Given the description of an element on the screen output the (x, y) to click on. 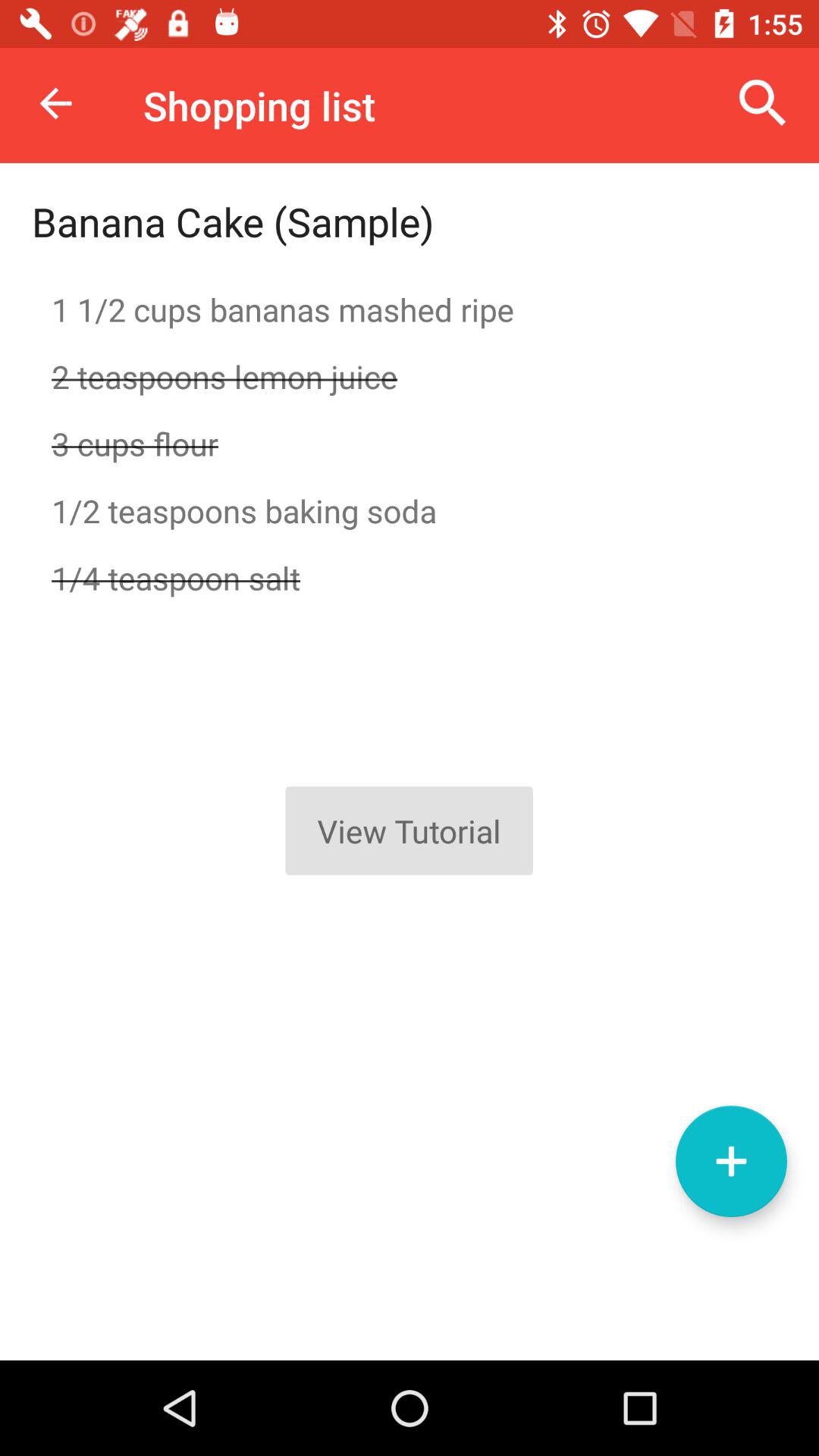
press icon above the 1 1 2 (763, 103)
